Given the description of an element on the screen output the (x, y) to click on. 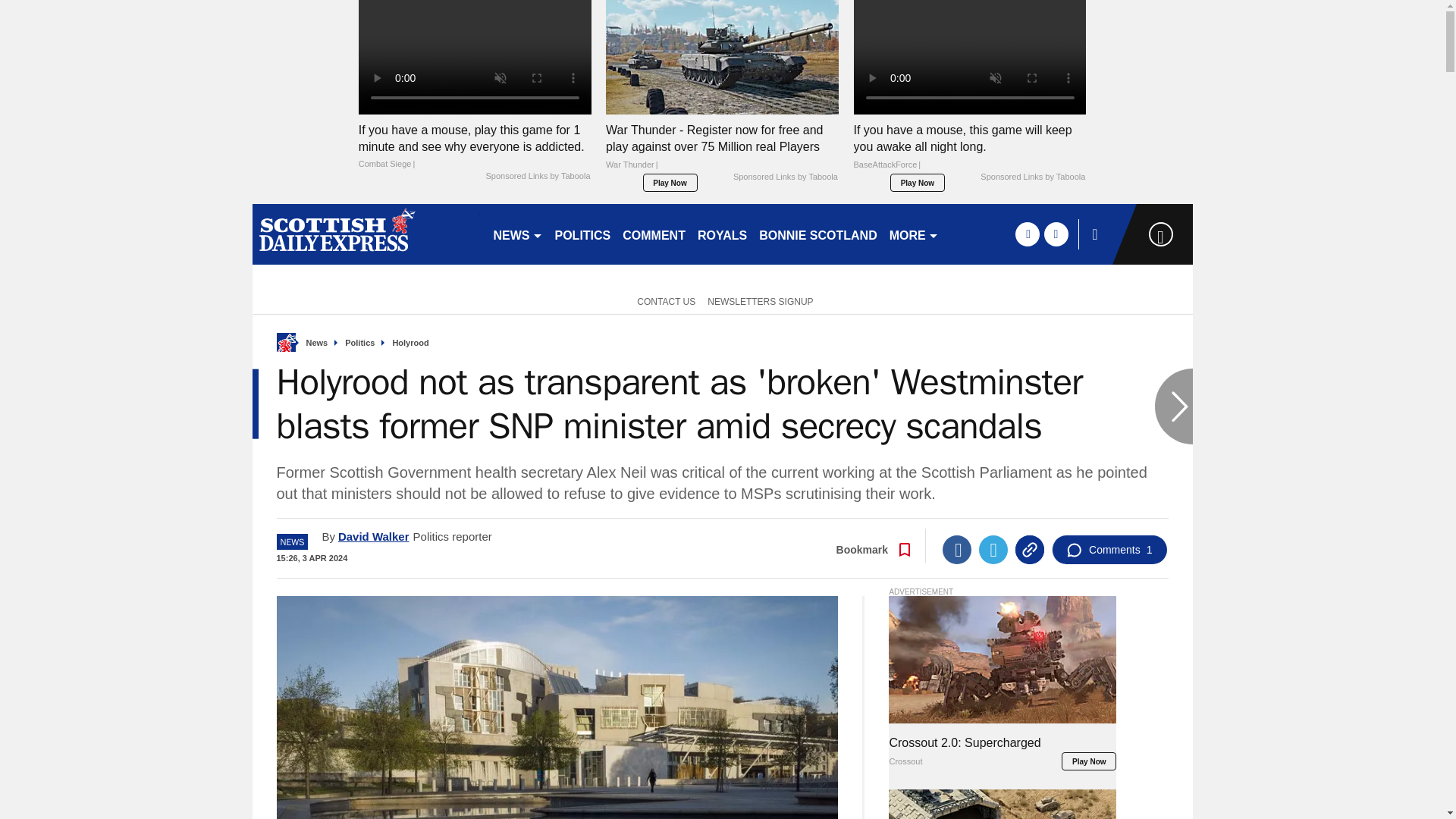
BONNIE SCOTLAND (817, 233)
Sponsored Links by Taboola (1031, 176)
Comments (1108, 549)
ROYALS (721, 233)
facebook (1026, 233)
Play Now (670, 182)
twitter (1055, 233)
POLITICS (582, 233)
Play Now (916, 182)
Twitter (992, 549)
scottishdailyexpress (365, 233)
Sponsored Links by Taboola (536, 176)
NEWS (517, 233)
